Given the description of an element on the screen output the (x, y) to click on. 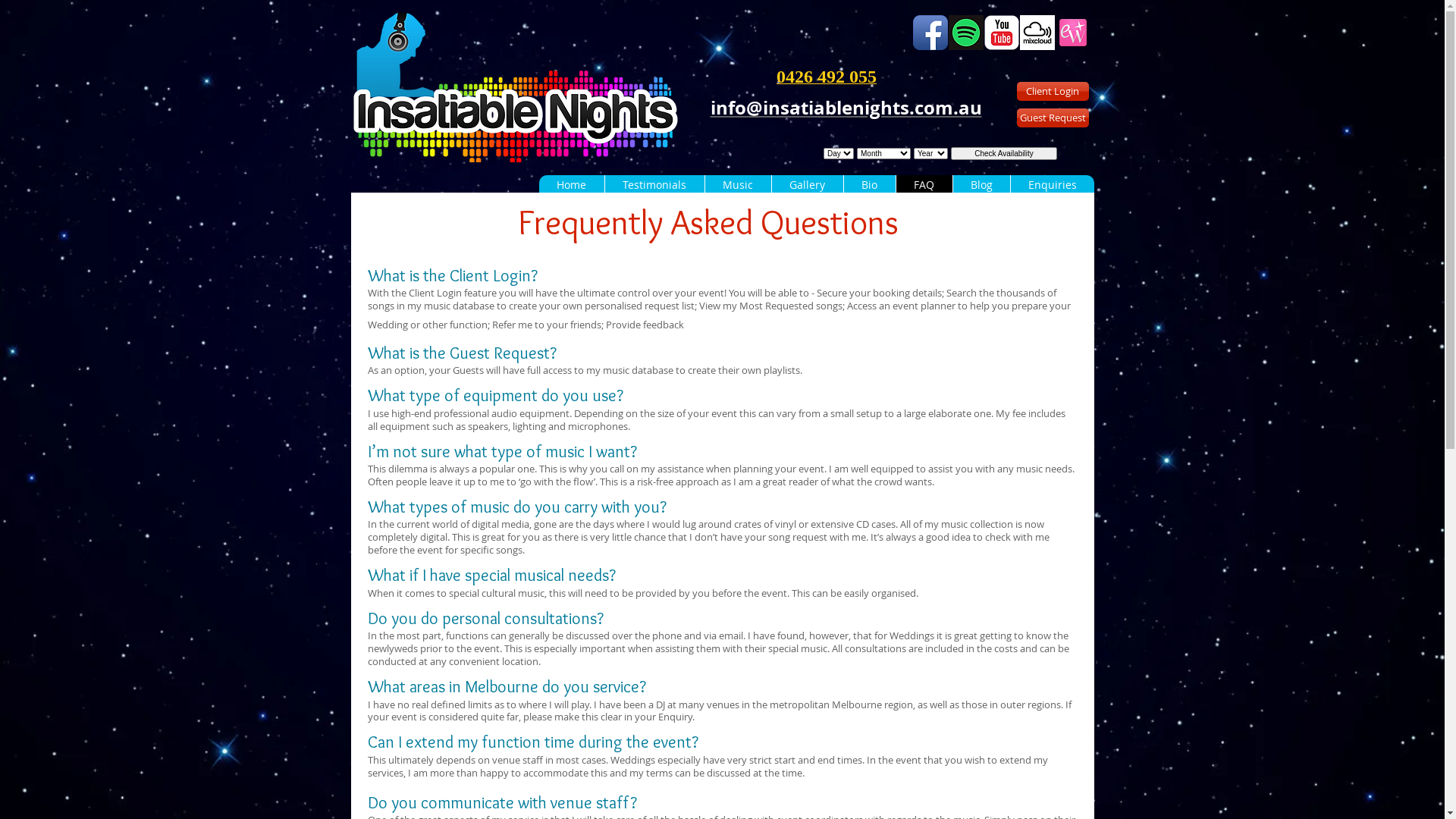
Client Login Element type: text (1052, 90)
Testimonials Element type: text (653, 184)
Enquiries Element type: text (1052, 184)
FAQ Element type: text (922, 184)
Gallery Element type: text (806, 184)
Embedded Content Element type: hover (863, 79)
Guest Request Element type: text (1052, 117)
Home Element type: text (570, 184)
Bio Element type: text (869, 184)
Wedding DJ Melbourne Element type: hover (514, 87)
Music Element type: text (736, 184)
Blog Element type: text (981, 184)
info@insatiablenights.com.au Element type: text (845, 107)
Embedded Content Element type: hover (957, 163)
